Given the description of an element on the screen output the (x, y) to click on. 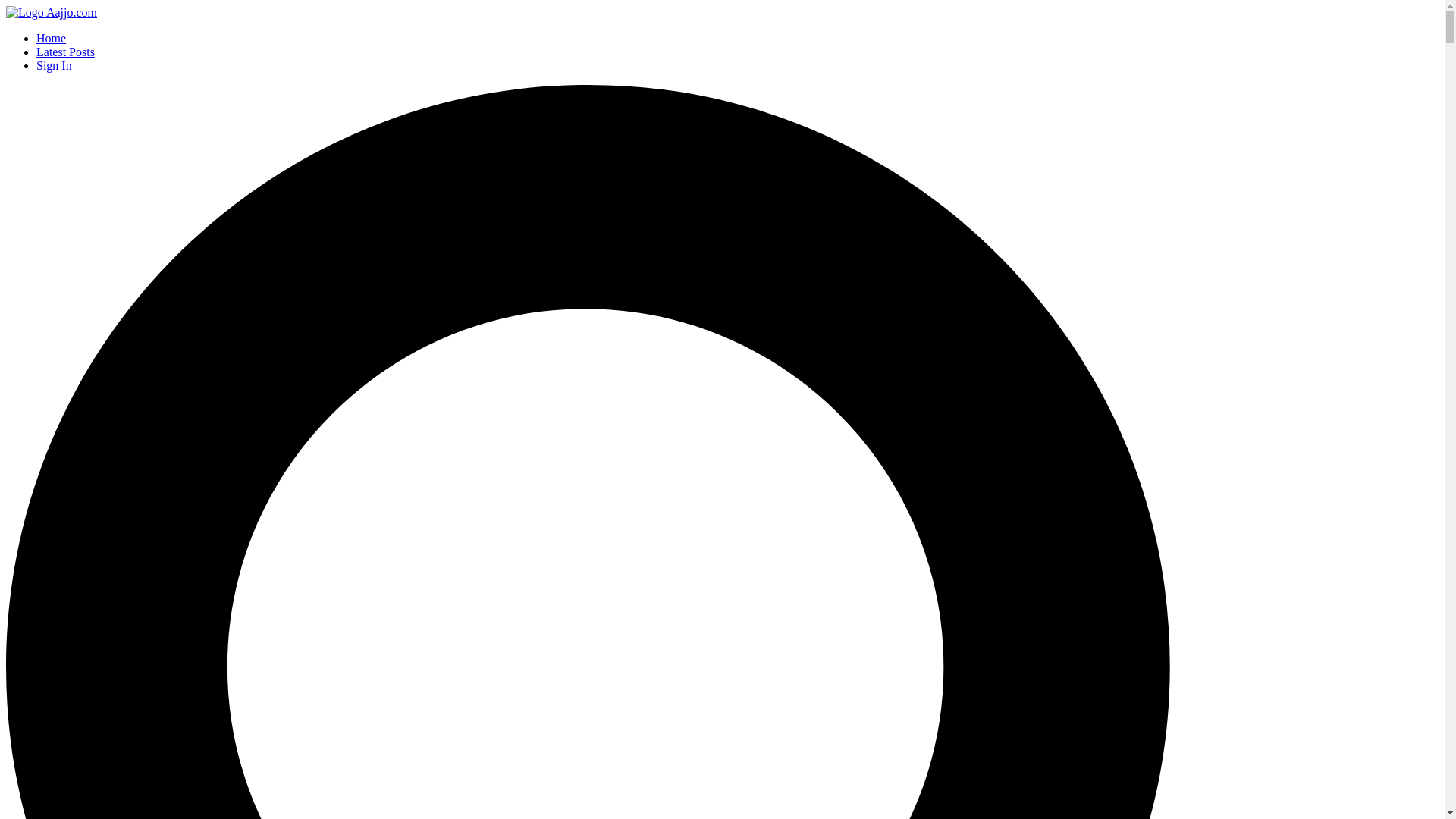
Sign In (53, 65)
Home (51, 12)
Home (50, 38)
Latest Posts (65, 51)
